Given the description of an element on the screen output the (x, y) to click on. 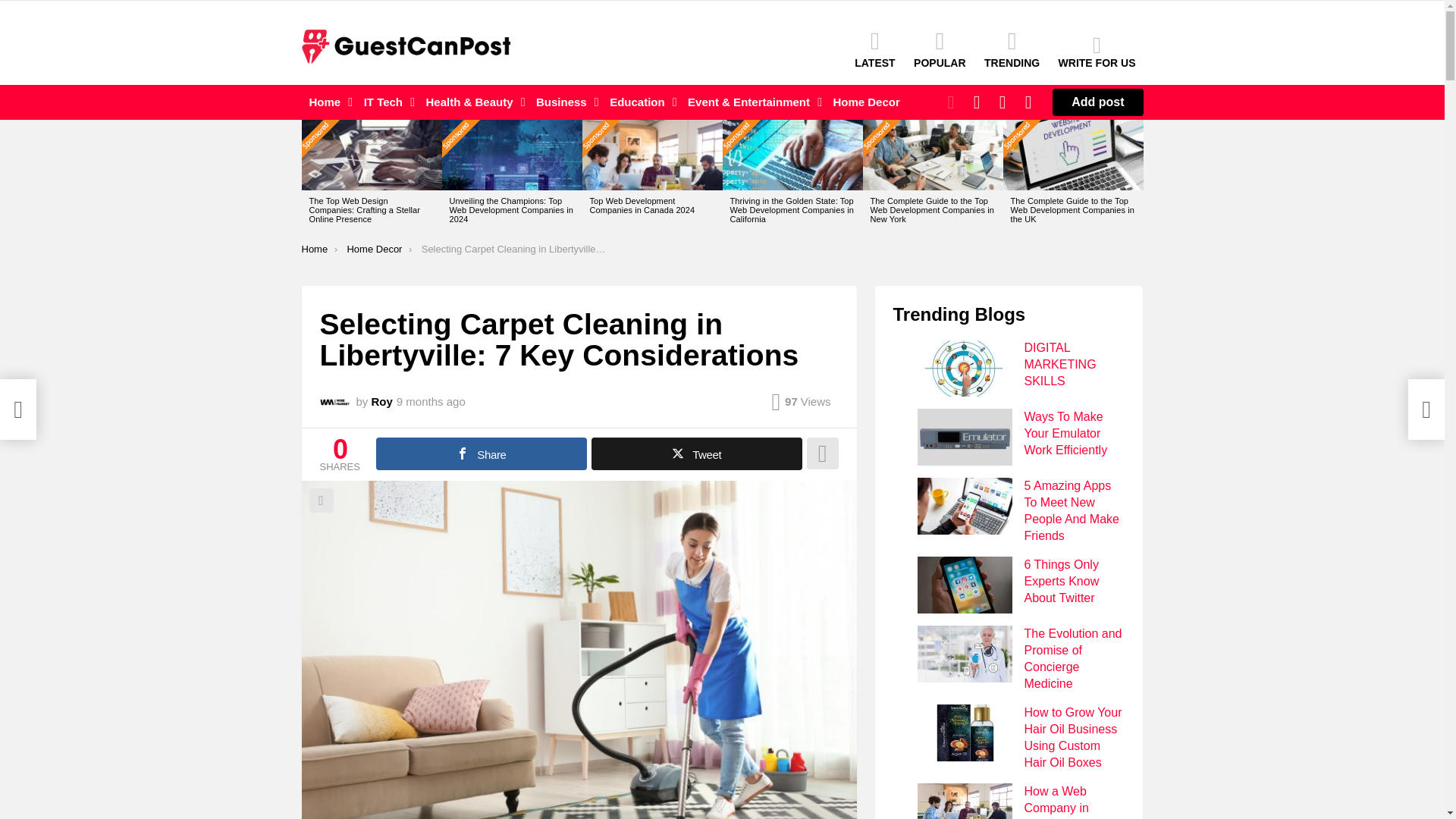
LATEST (874, 48)
Posts by Roy Jmaes (382, 400)
October 25, 2023, 1:33 pm (430, 401)
Home (327, 101)
WRITE FOR US (1096, 51)
Education (639, 101)
Top Web Development Companies in Canada 2024 (652, 154)
POPULAR (938, 48)
IT Tech (385, 101)
Business (563, 101)
